Given the description of an element on the screen output the (x, y) to click on. 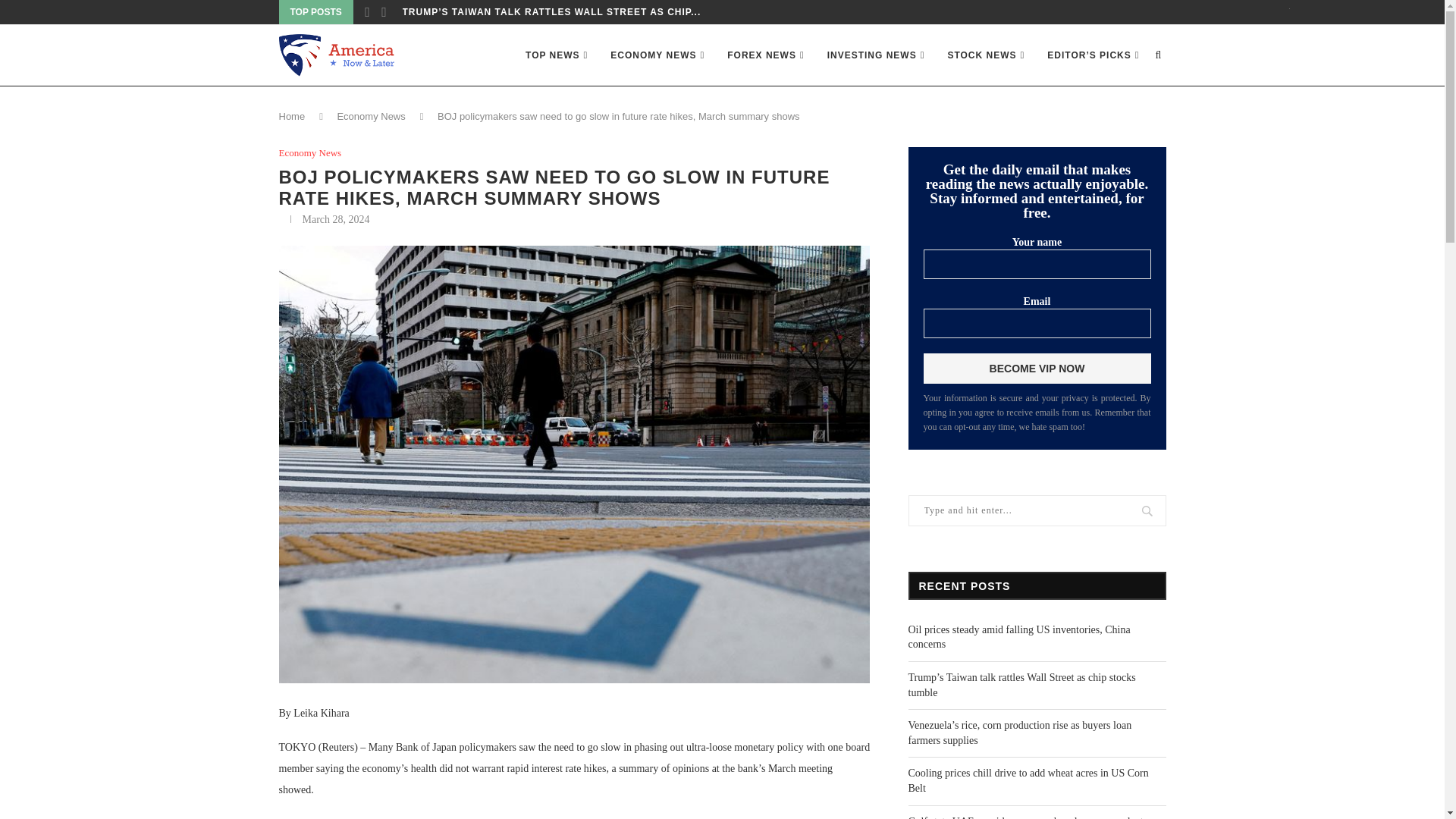
Become VIP Now (1037, 368)
